Given the description of an element on the screen output the (x, y) to click on. 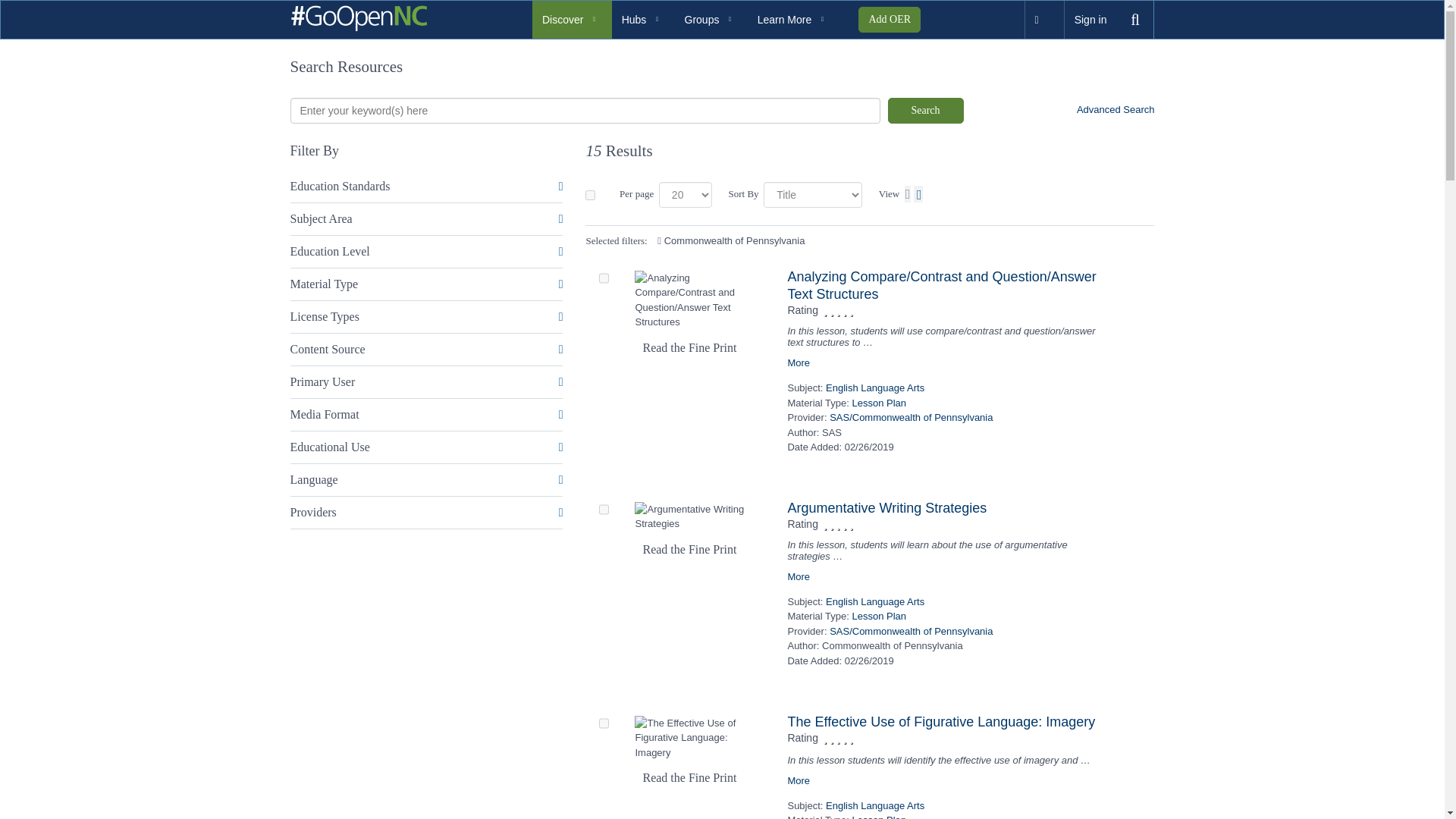
Show add OER options (889, 19)
Search keywords (584, 110)
Sign in (1090, 19)
Hubs (643, 19)
Learn More (794, 19)
Groups (711, 19)
on (590, 194)
Add OER (889, 19)
Discover (571, 19)
